Given the description of an element on the screen output the (x, y) to click on. 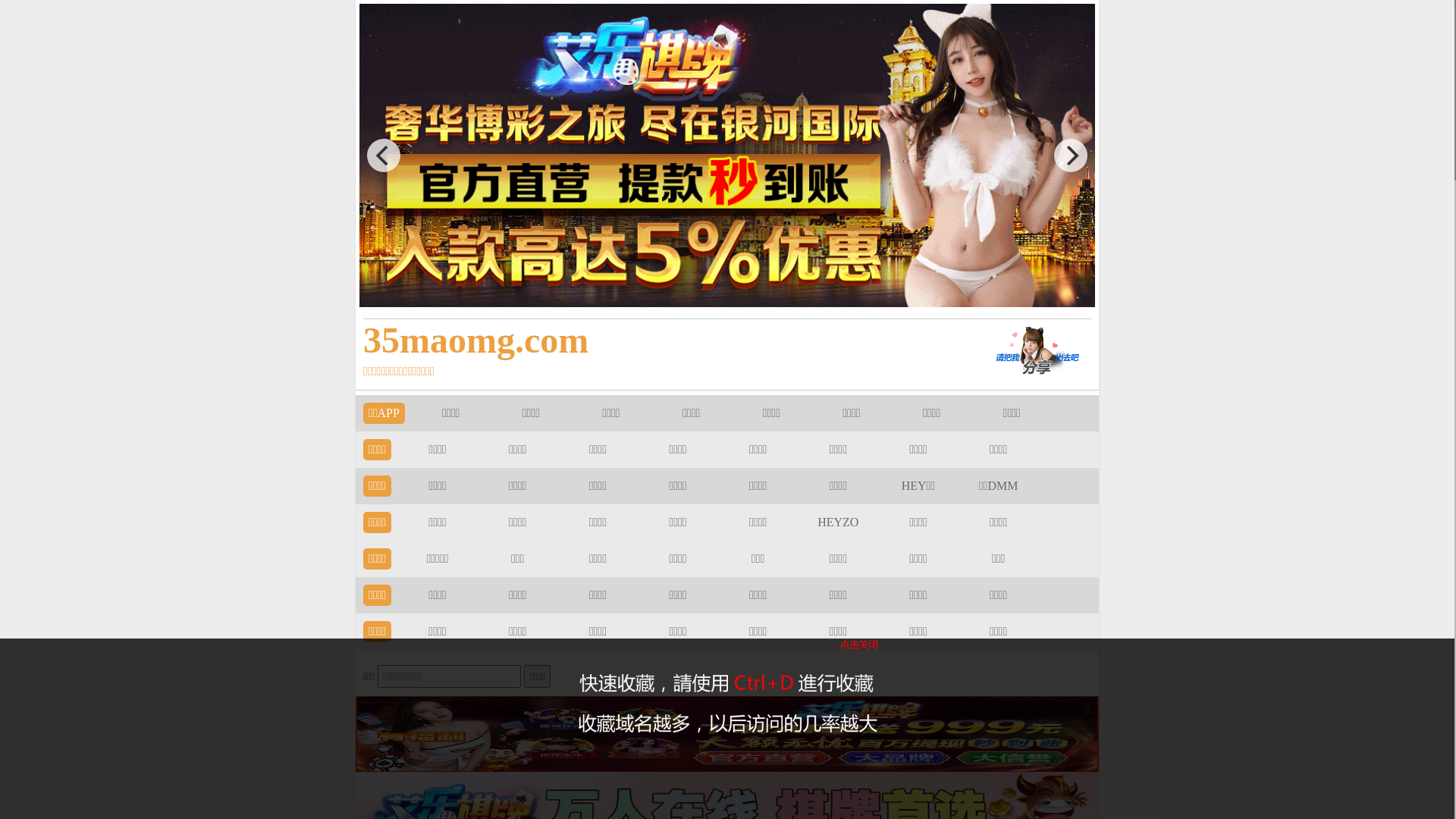
HEYZO Element type: text (837, 521)
35maomg.com Element type: text (654, 339)
